Given the description of an element on the screen output the (x, y) to click on. 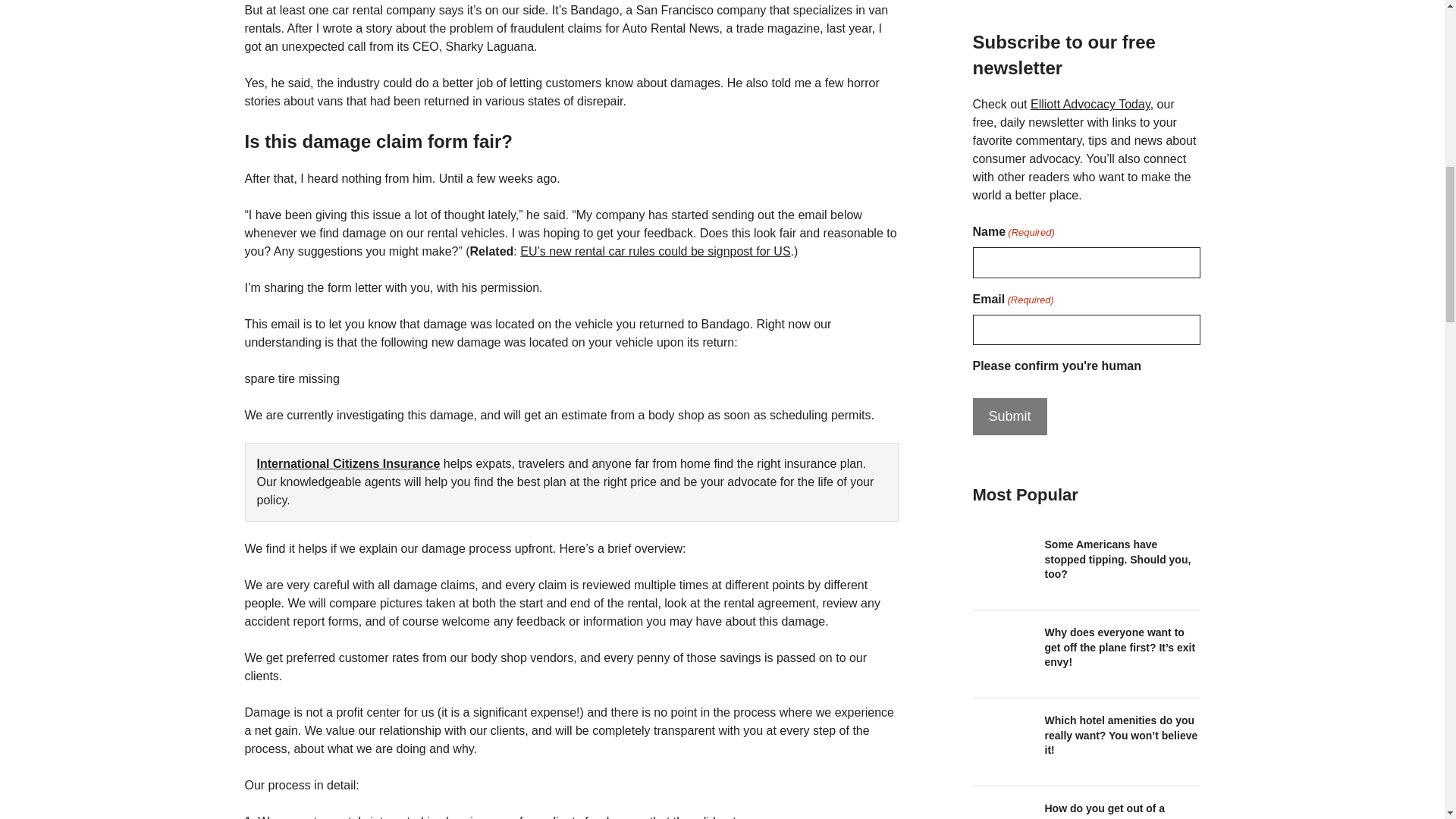
Submit (1009, 416)
